Given the description of an element on the screen output the (x, y) to click on. 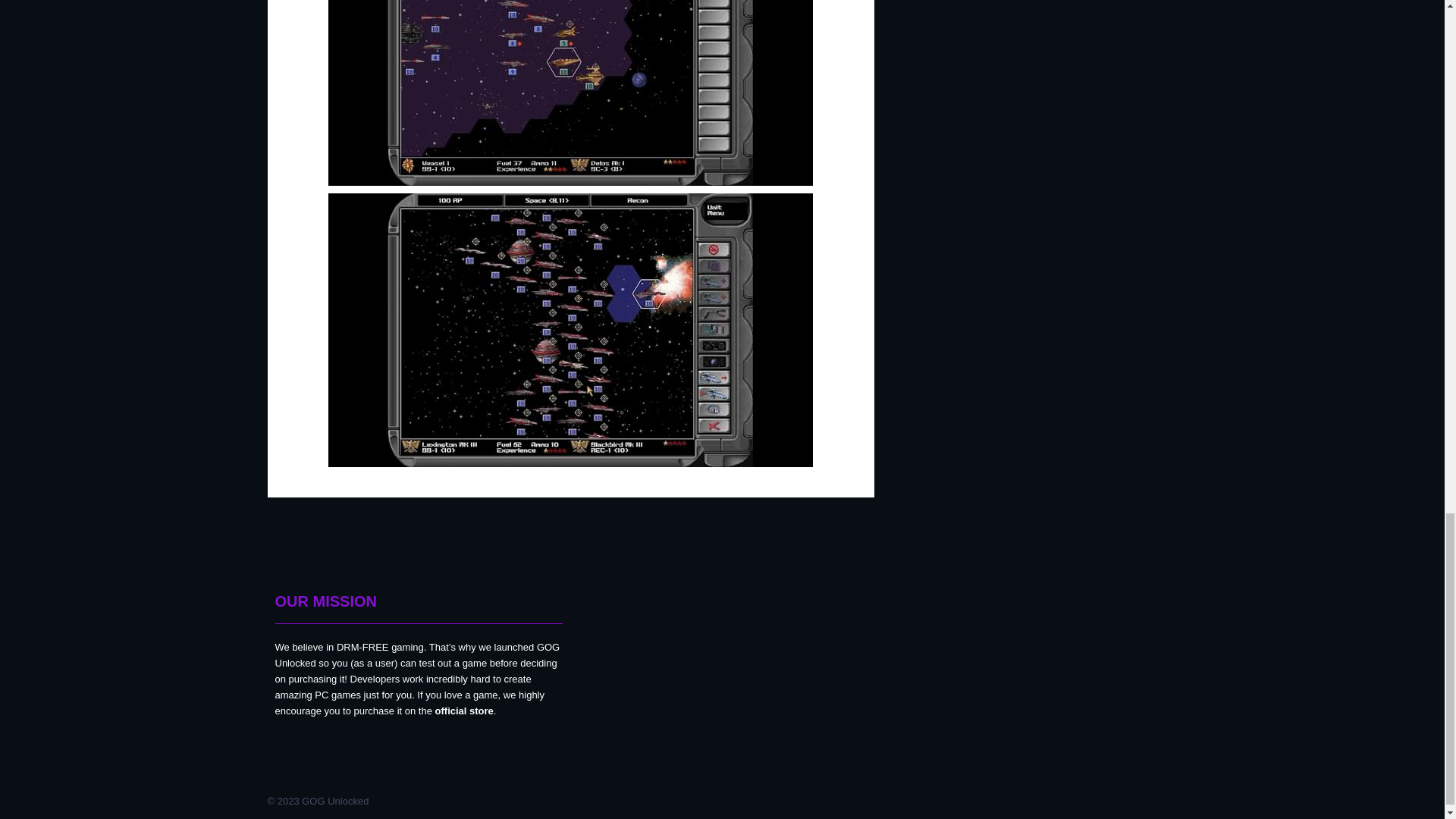
official store (464, 710)
